Given the description of an element on the screen output the (x, y) to click on. 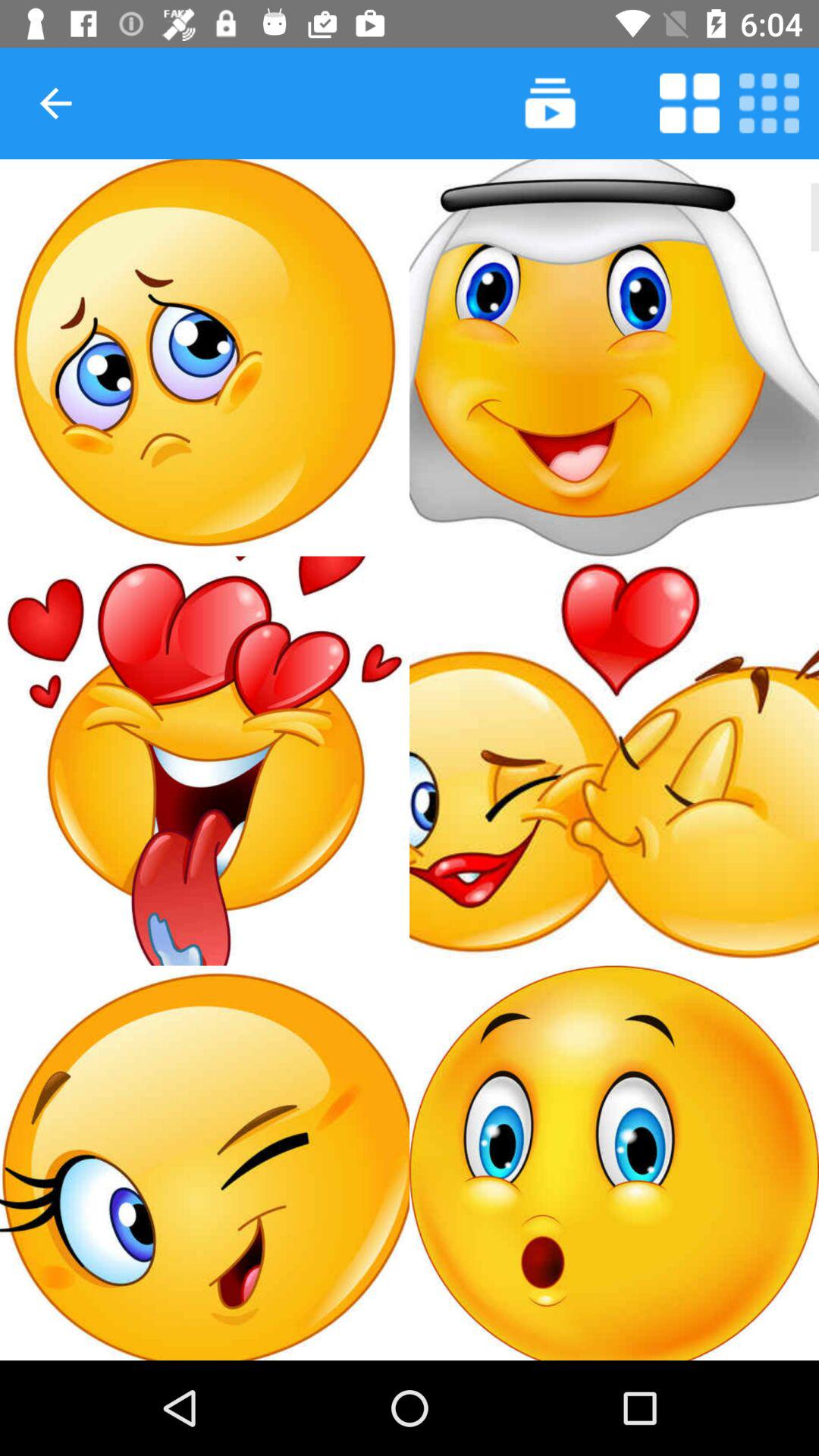
choose small sticker display option (769, 103)
